Given the description of an element on the screen output the (x, y) to click on. 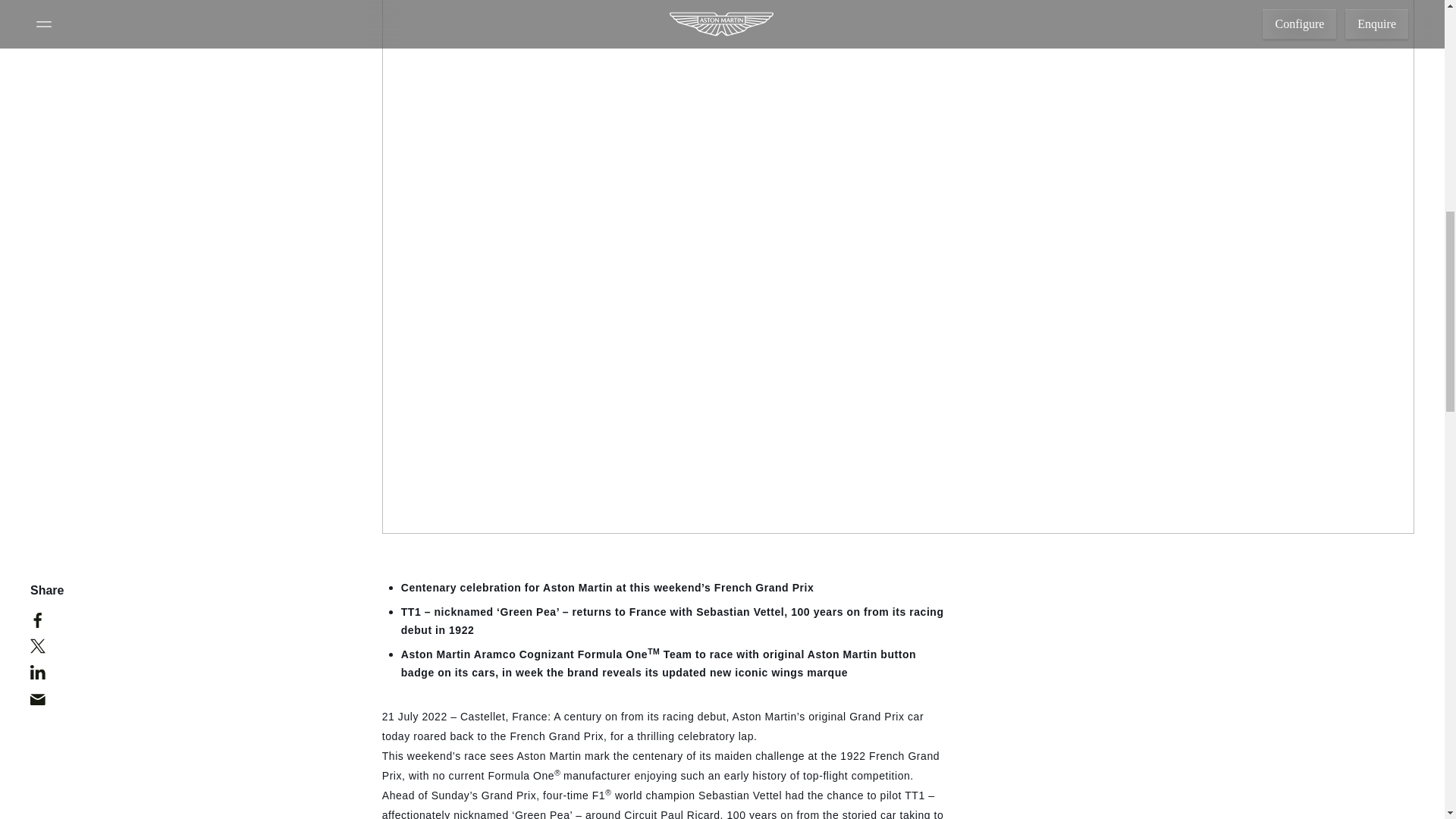
Share with a friend (45, 702)
Share (194, 691)
